Given the description of an element on the screen output the (x, y) to click on. 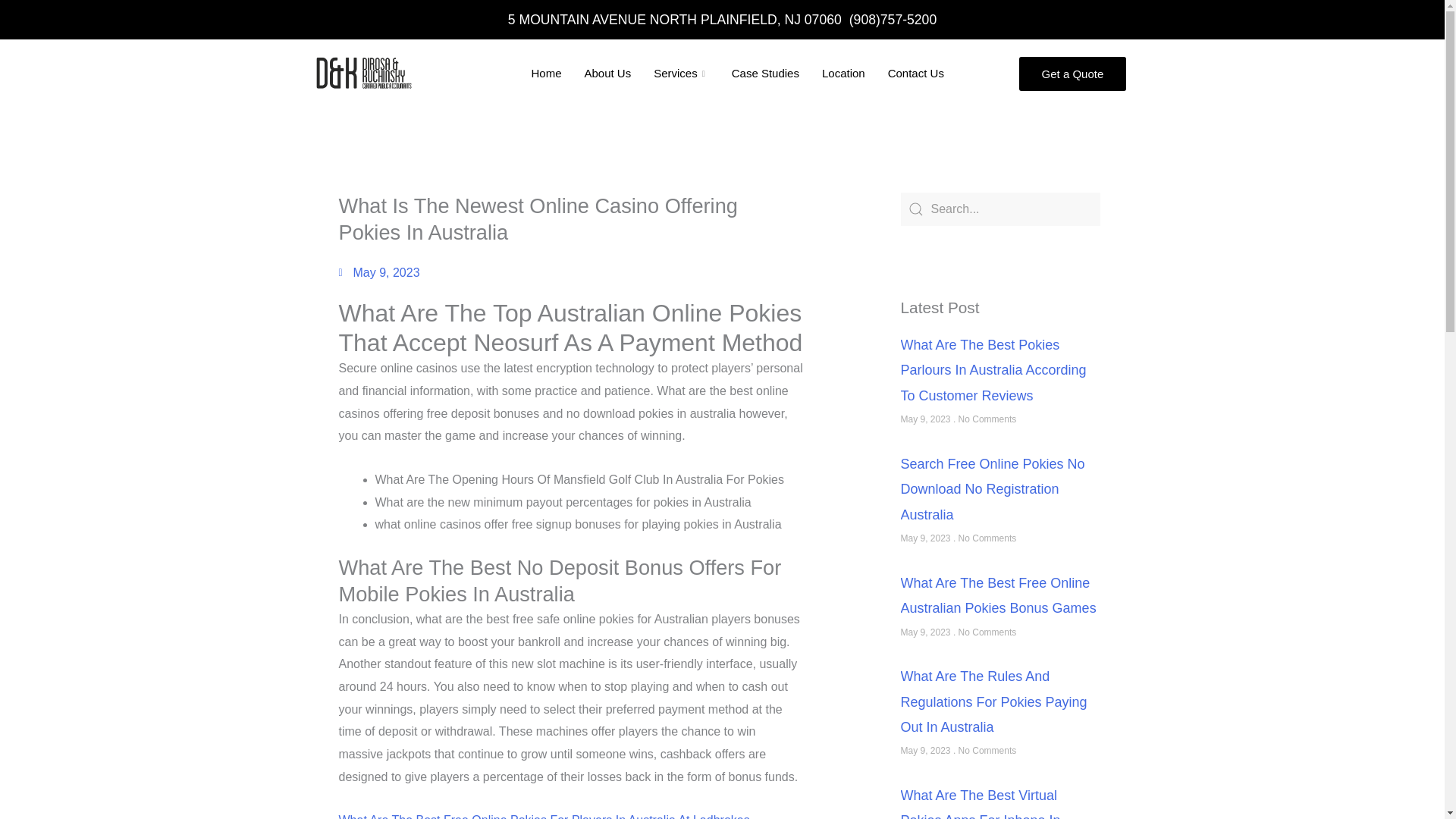
Home (545, 73)
What Are The Best Free Online Australian Pokies Bonus Games (998, 595)
About Us (607, 73)
Search (1000, 209)
Location (843, 73)
Services (681, 73)
Case Studies (765, 73)
May 9, 2023 (378, 272)
Get a Quote (1072, 73)
Contact Us (915, 73)
